Given the description of an element on the screen output the (x, y) to click on. 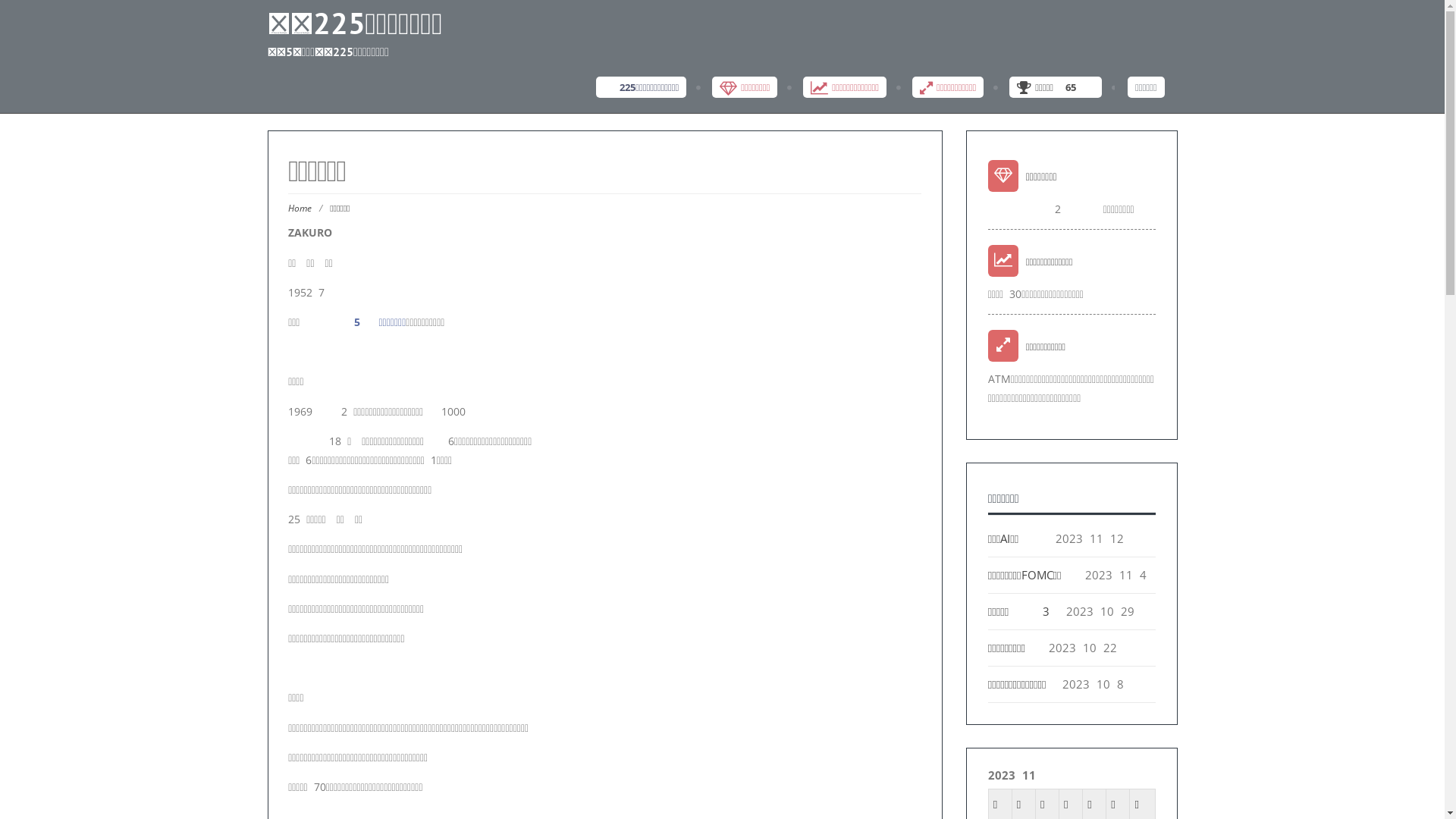
Home Element type: text (299, 207)
